Given the description of an element on the screen output the (x, y) to click on. 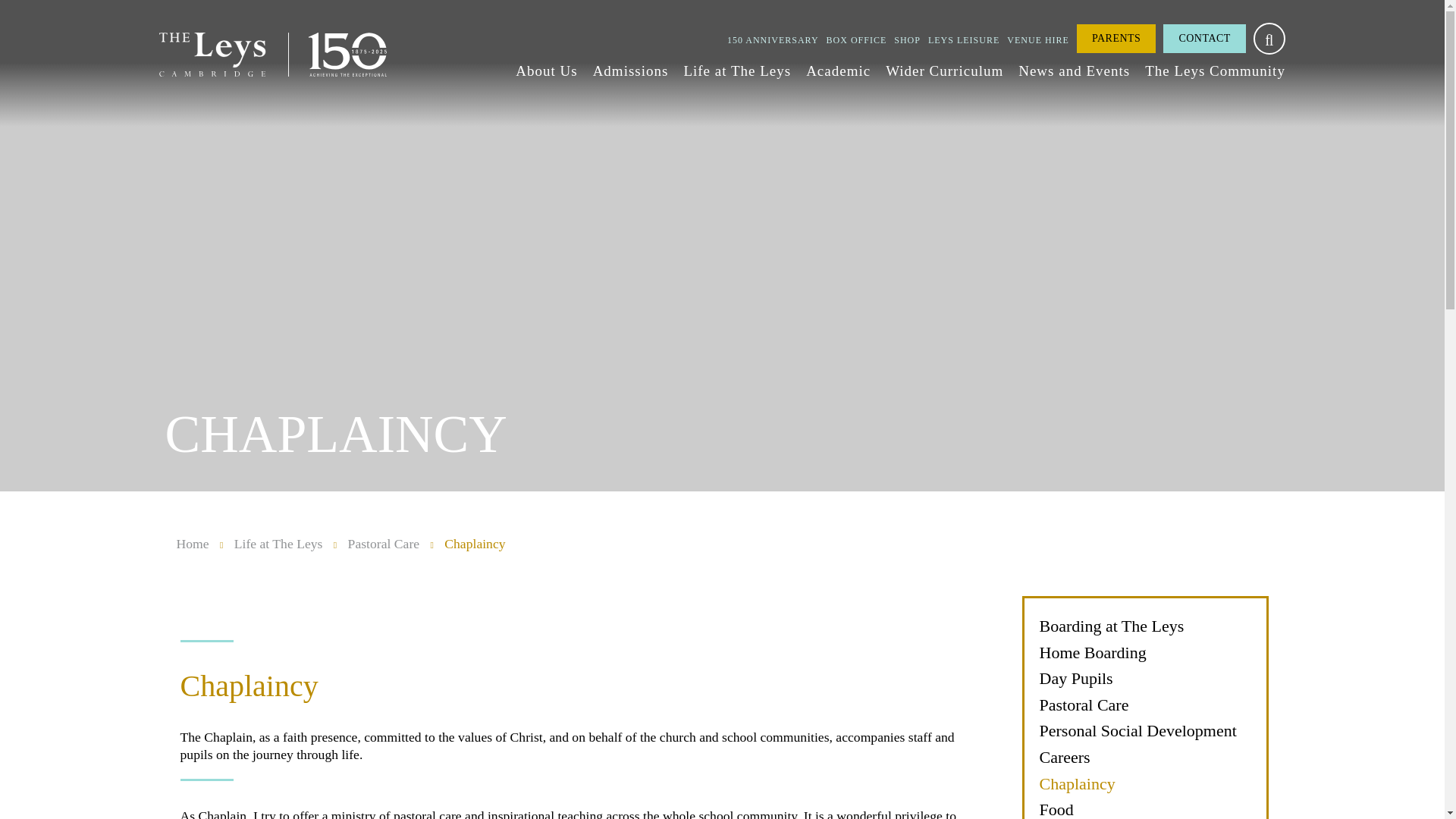
LEYS LEISURE (963, 40)
Admissions (630, 70)
CONTACT (1204, 38)
Life at The Leys (736, 70)
Contact (1204, 38)
SHOP (906, 40)
BOX OFFICE (856, 40)
150 ANNIVERSARY (772, 40)
About Us (545, 70)
VENUE HIRE (1037, 40)
